Given the description of an element on the screen output the (x, y) to click on. 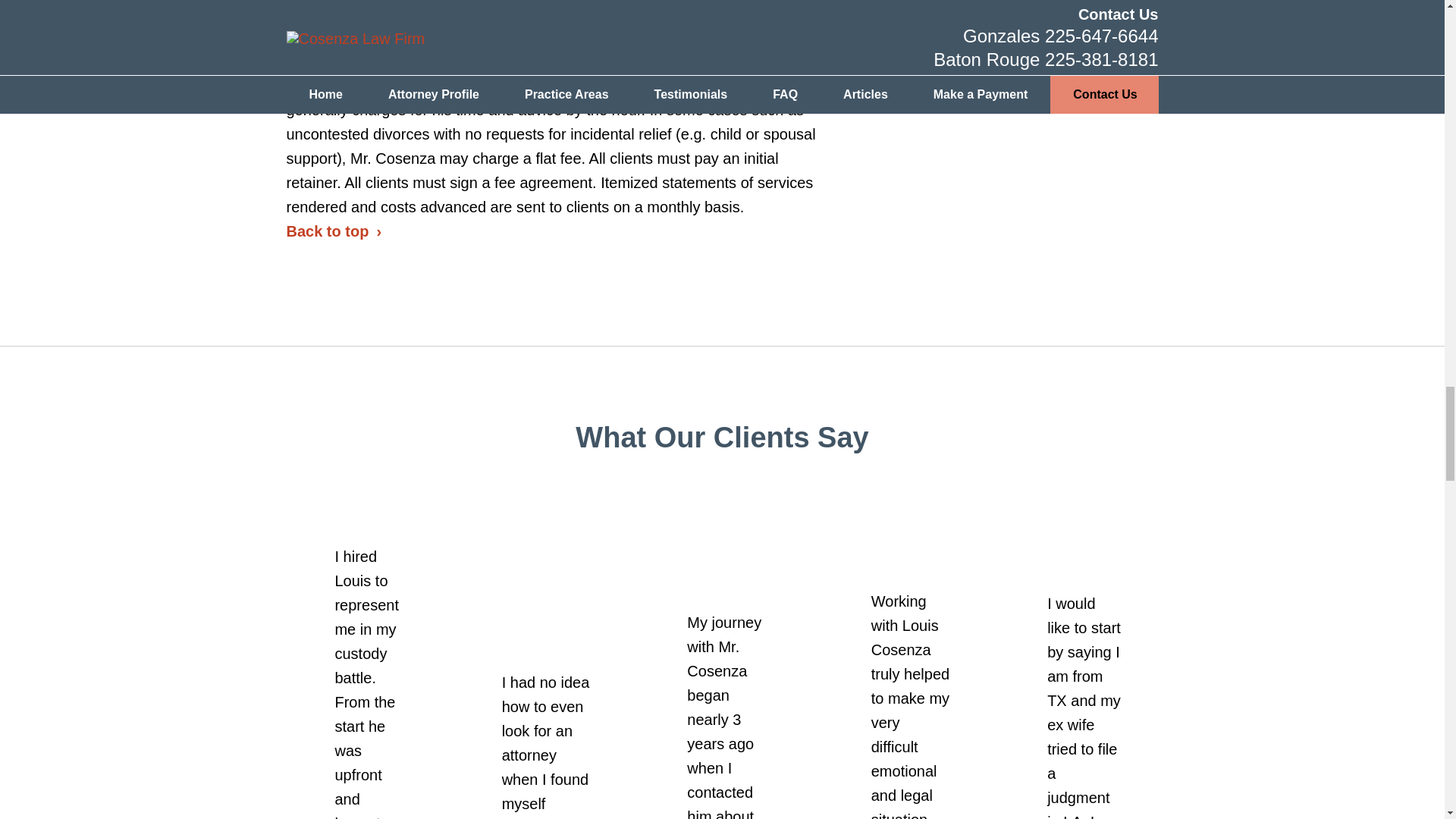
Back to top (333, 29)
